Given the description of an element on the screen output the (x, y) to click on. 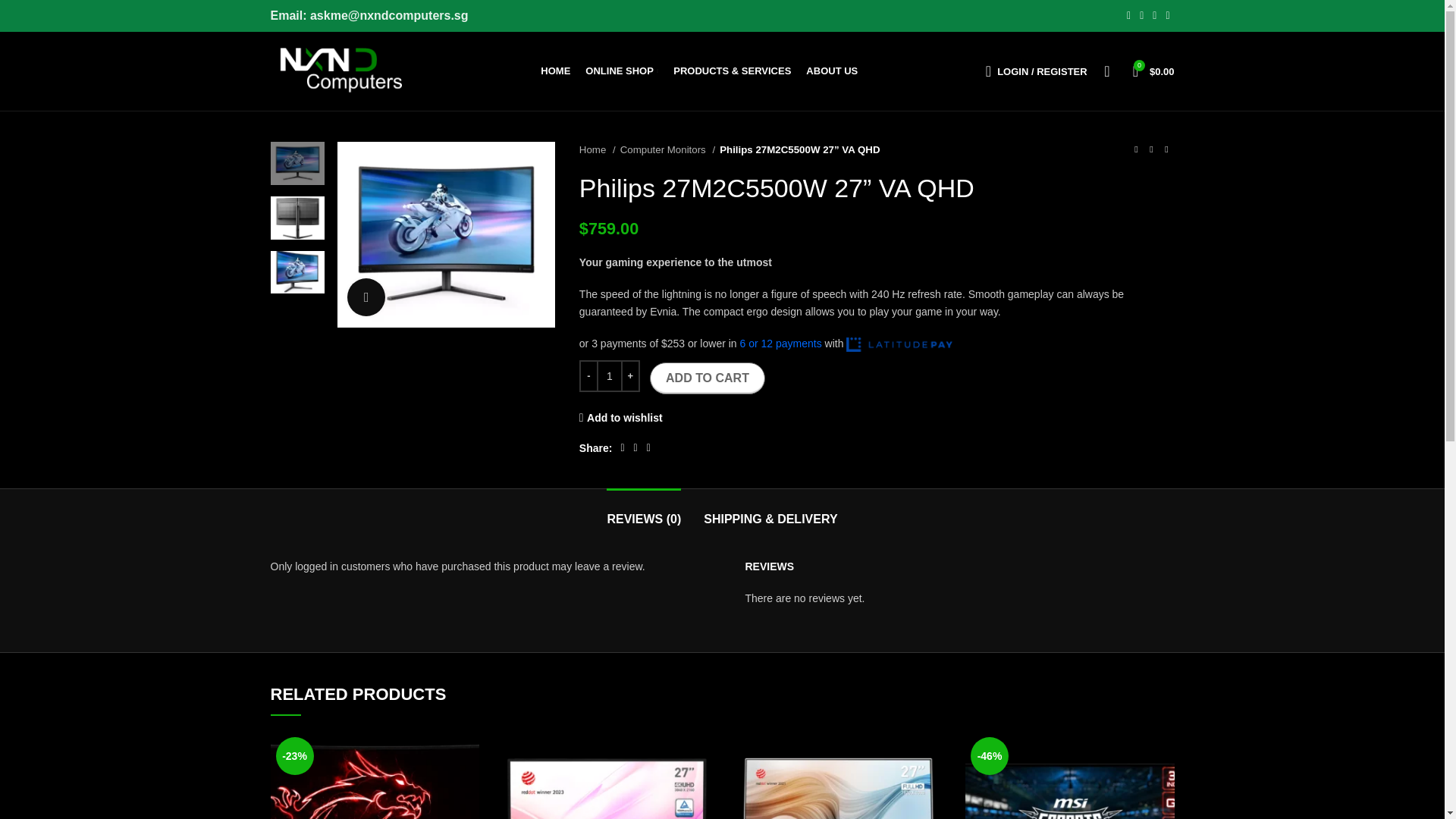
My account (1036, 71)
Shopping cart (1153, 71)
ONLINE SHOP (621, 71)
HOME (555, 71)
